Given the description of an element on the screen output the (x, y) to click on. 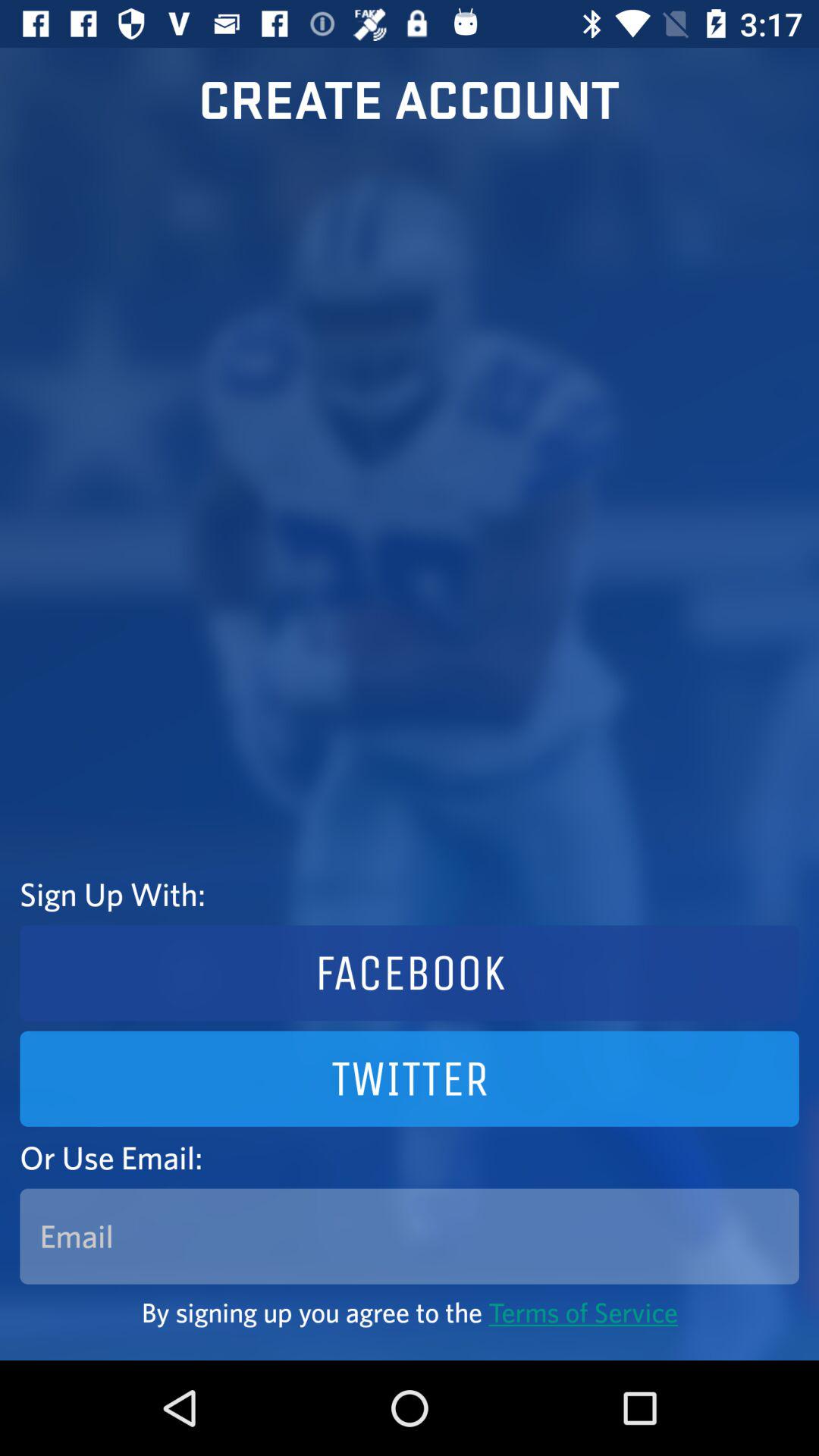
launch icon above twitter icon (409, 972)
